Given the description of an element on the screen output the (x, y) to click on. 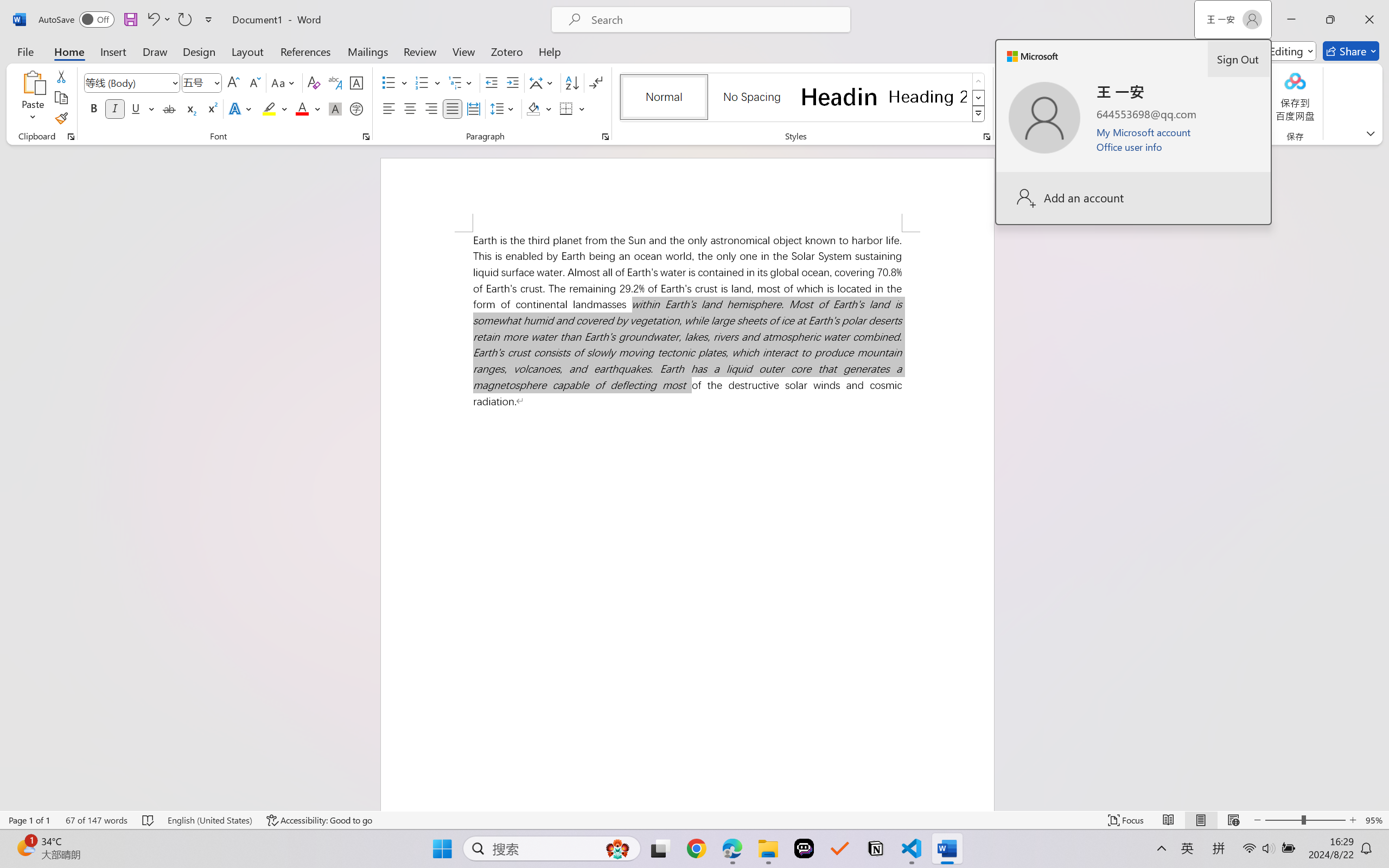
Font Color Red (302, 108)
Character Border (356, 82)
Align Left (388, 108)
Copy (60, 97)
Italic (115, 108)
Text Effects and Typography (241, 108)
Grow Font (233, 82)
